Given the description of an element on the screen output the (x, y) to click on. 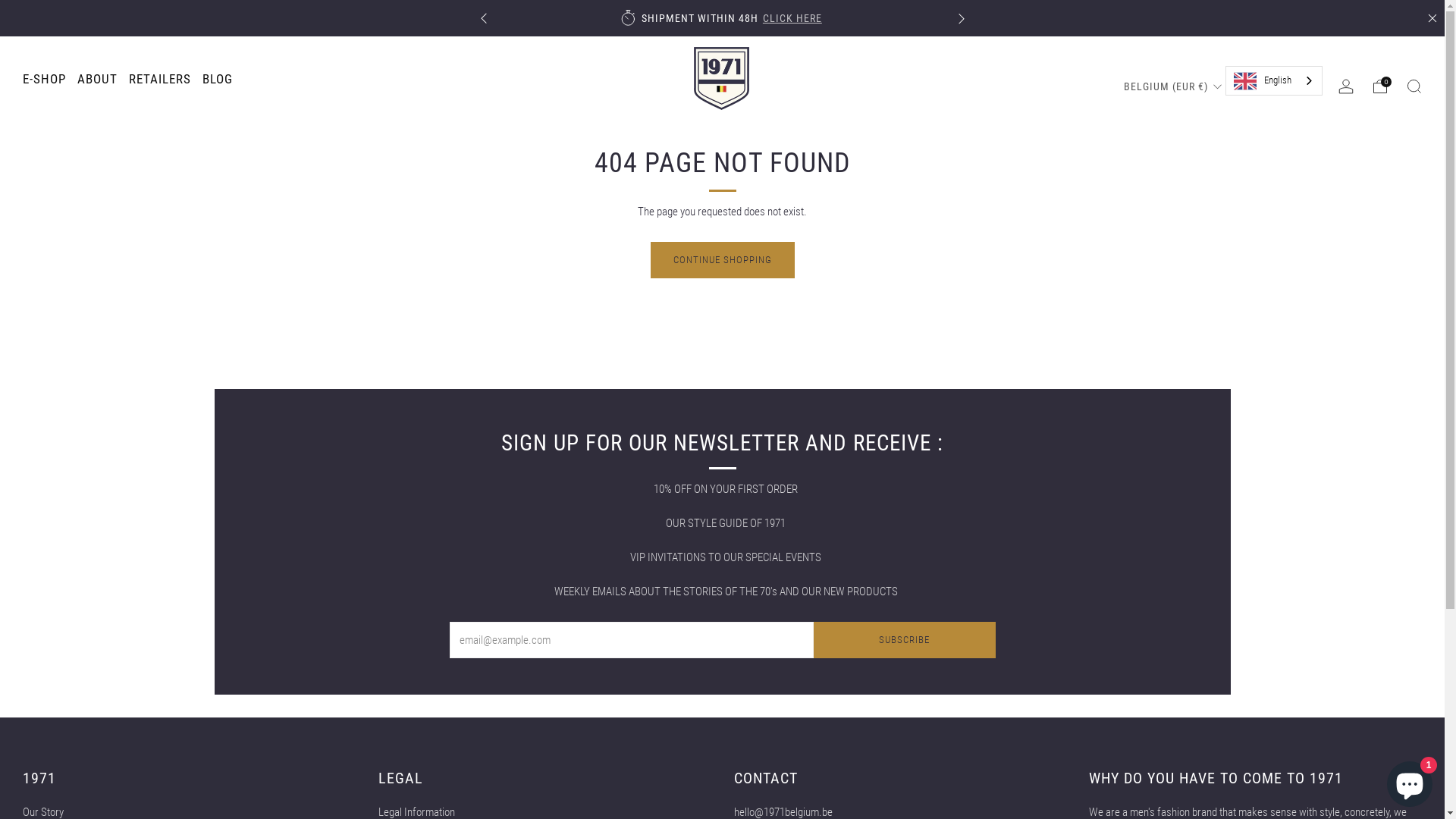
RETAILERS Element type: text (159, 78)
English Element type: text (1273, 80)
CONTINUE SHOPPING Element type: text (722, 259)
E-SHOP Element type: text (43, 78)
SUBSCRIBE Element type: text (903, 639)
LEARN MORE Element type: text (409, 18)
Shopify online store chat Element type: hover (1409, 780)
0 Element type: text (1379, 86)
CLICK HERE Element type: text (792, 18)
BLOG Element type: text (217, 78)
ABOUT Element type: text (97, 78)
